Given the description of an element on the screen output the (x, y) to click on. 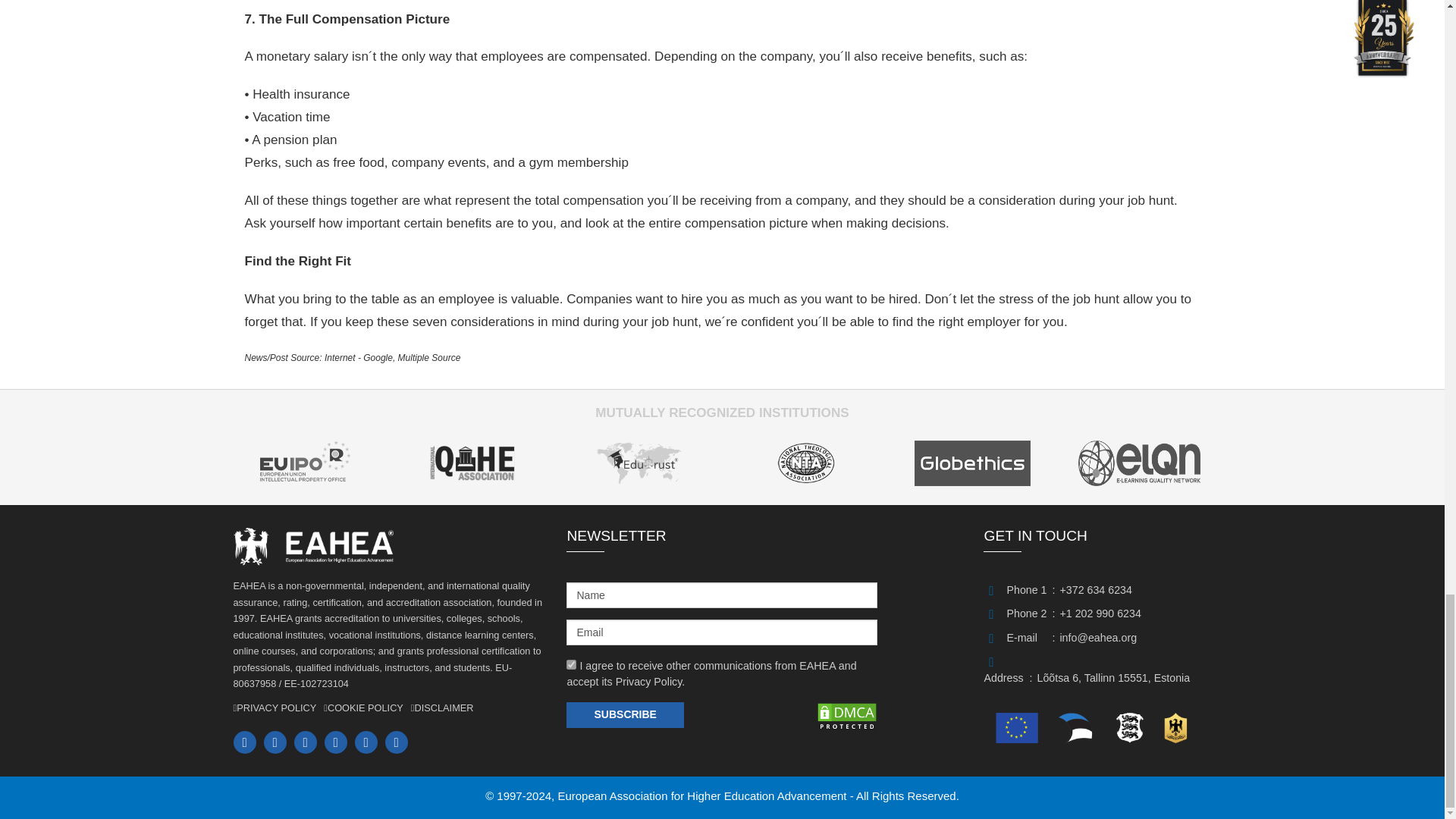
LinkedIn (247, 743)
Email (370, 743)
Youtube (339, 743)
Instagram (278, 743)
on (571, 664)
Facebook (309, 743)
WhatsApp (399, 743)
